Given the description of an element on the screen output the (x, y) to click on. 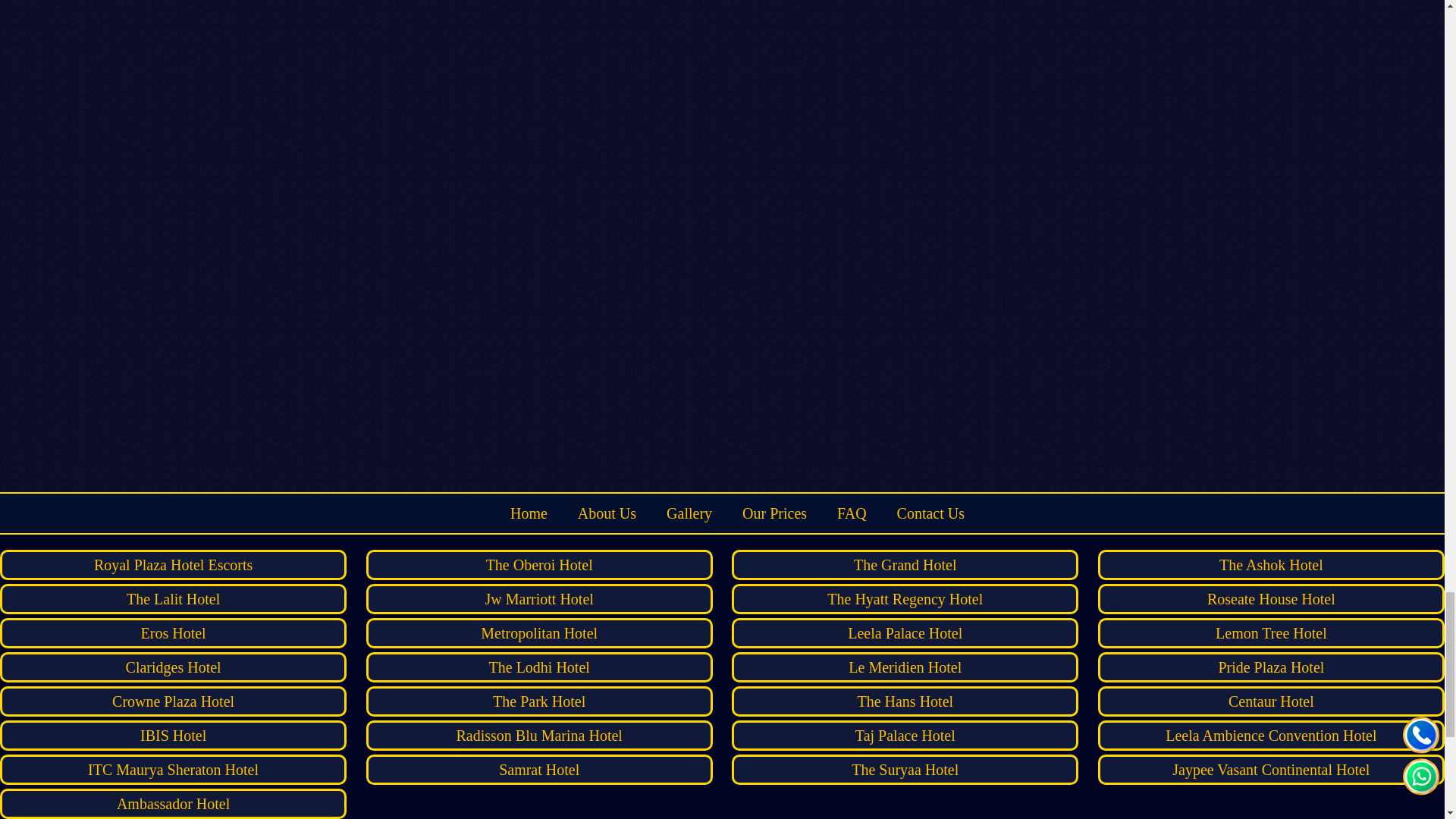
name of location (905, 633)
name of location (905, 564)
name of location (173, 666)
name of location (173, 598)
name of location (539, 666)
name of location (539, 564)
name of location (539, 598)
name of location (539, 701)
name of location (905, 666)
name of location (539, 633)
